Given the description of an element on the screen output the (x, y) to click on. 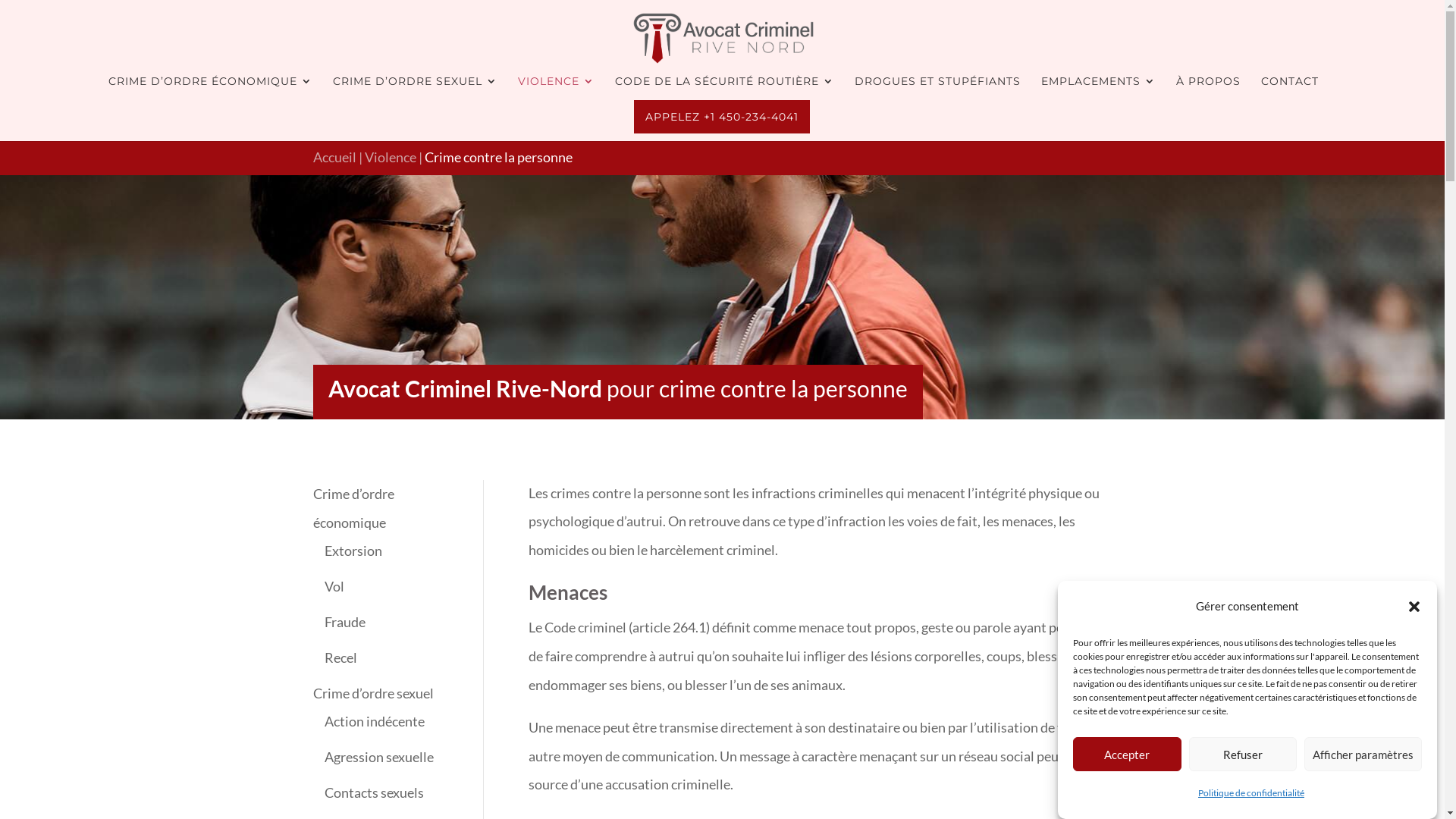
Violence Element type: text (389, 156)
Recel Element type: text (340, 657)
Accueil Element type: text (333, 156)
CONTACT Element type: text (1288, 87)
Refuser Element type: text (1243, 754)
Fraude Element type: text (344, 621)
VIOLENCE Element type: text (555, 87)
Vol Element type: text (334, 585)
Agression sexuelle Element type: text (378, 756)
Contacts sexuels Element type: text (373, 792)
Extorsion Element type: text (353, 550)
EMPLACEMENTS Element type: text (1097, 87)
Accepter Element type: text (1127, 754)
APPELEZ +1 450-234-4041 Element type: text (721, 116)
